Given the description of an element on the screen output the (x, y) to click on. 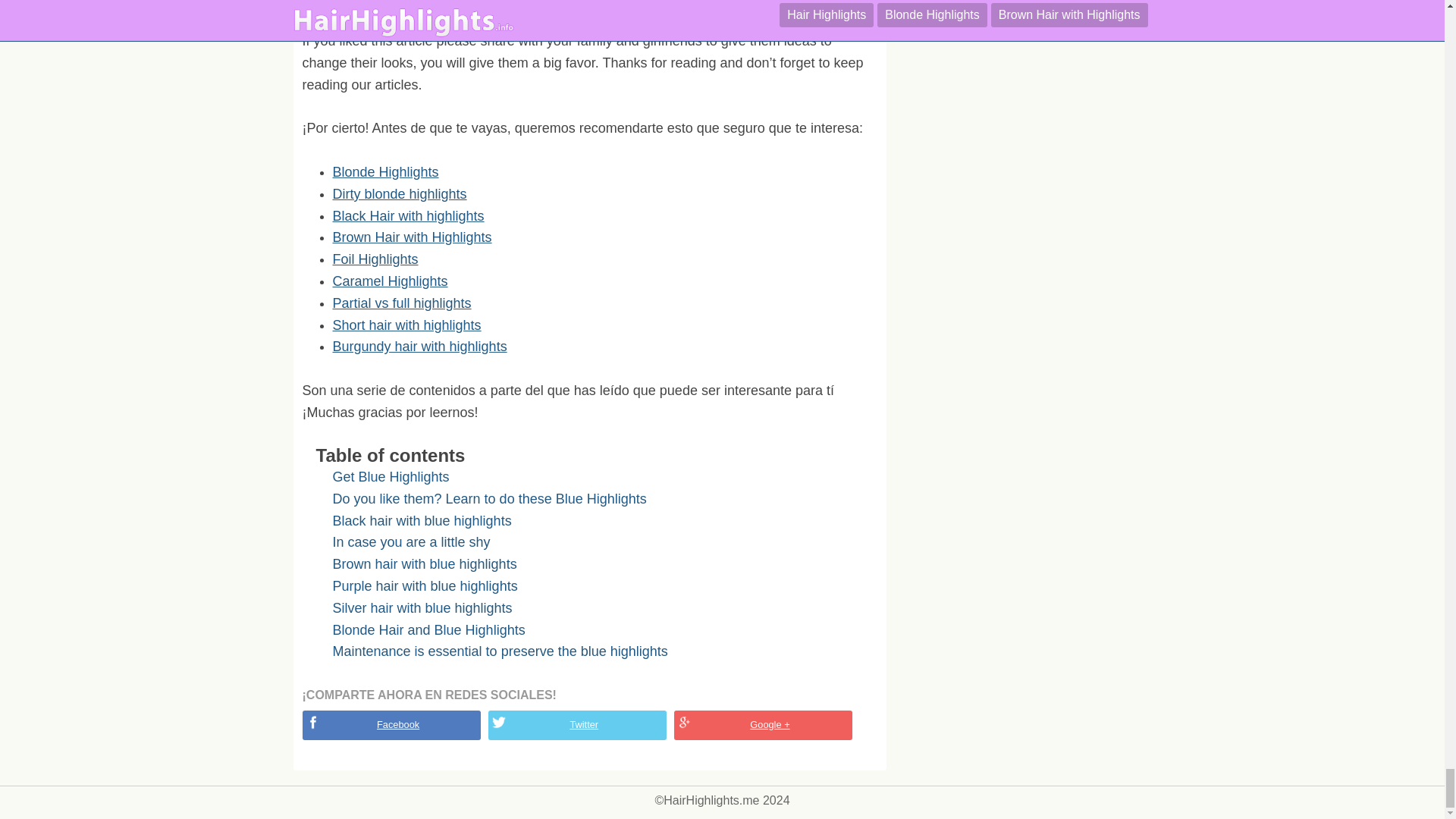
Do you like them? Learn to do these Blue Highlights (488, 498)
Black hair with blue highlights (421, 520)
Caramel Highlights (388, 281)
Short hair with highlights (405, 324)
Black Hair with highlights (407, 215)
Dirty blonde highlights (398, 193)
Partial vs full highlights (400, 303)
Blonde Highlights (384, 171)
Burgundy hair with highlights (418, 346)
In case you are a little shy (410, 541)
